Given the description of an element on the screen output the (x, y) to click on. 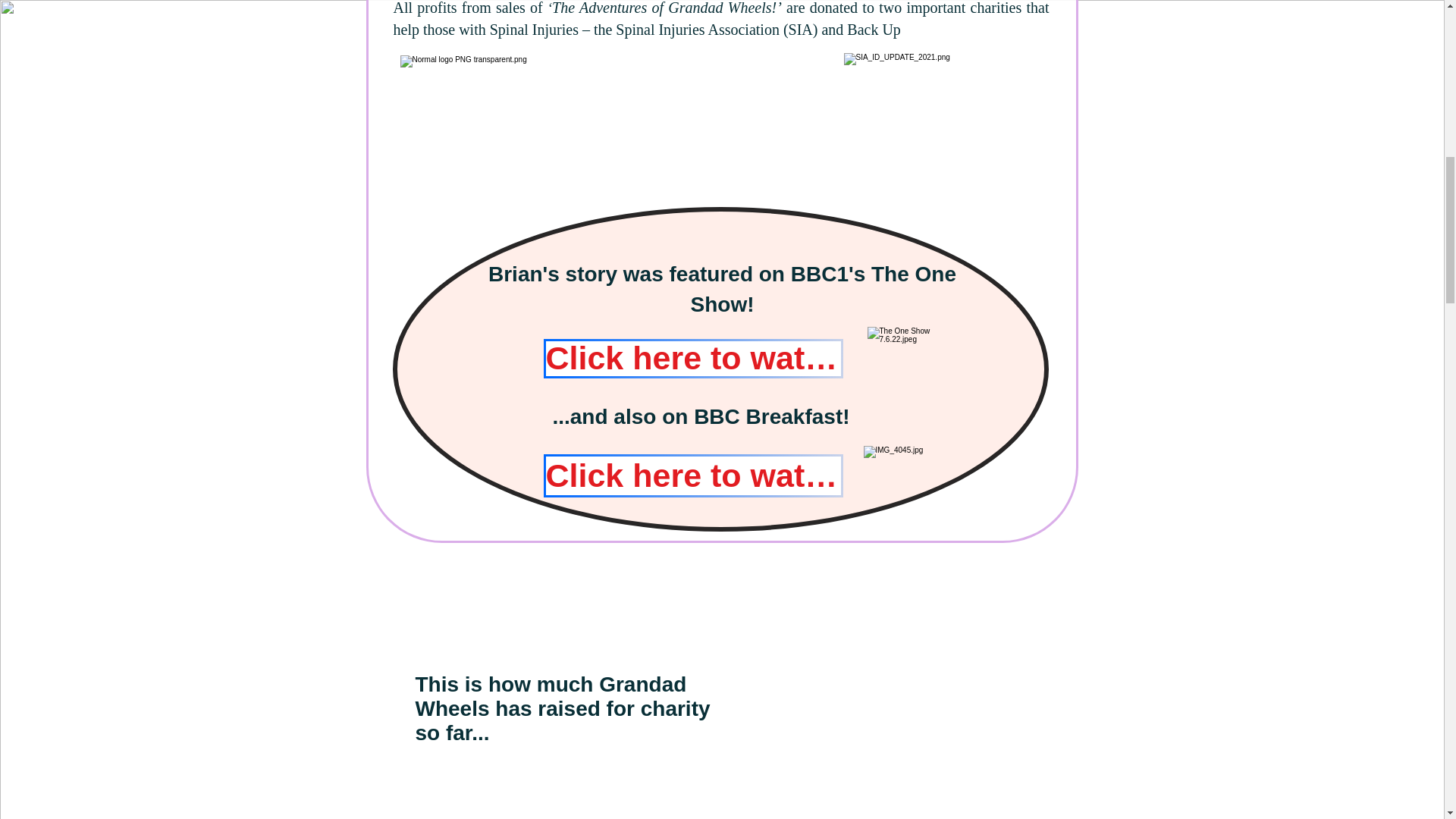
Click here to watch (693, 475)
Click here to watch (693, 358)
